Given the description of an element on the screen output the (x, y) to click on. 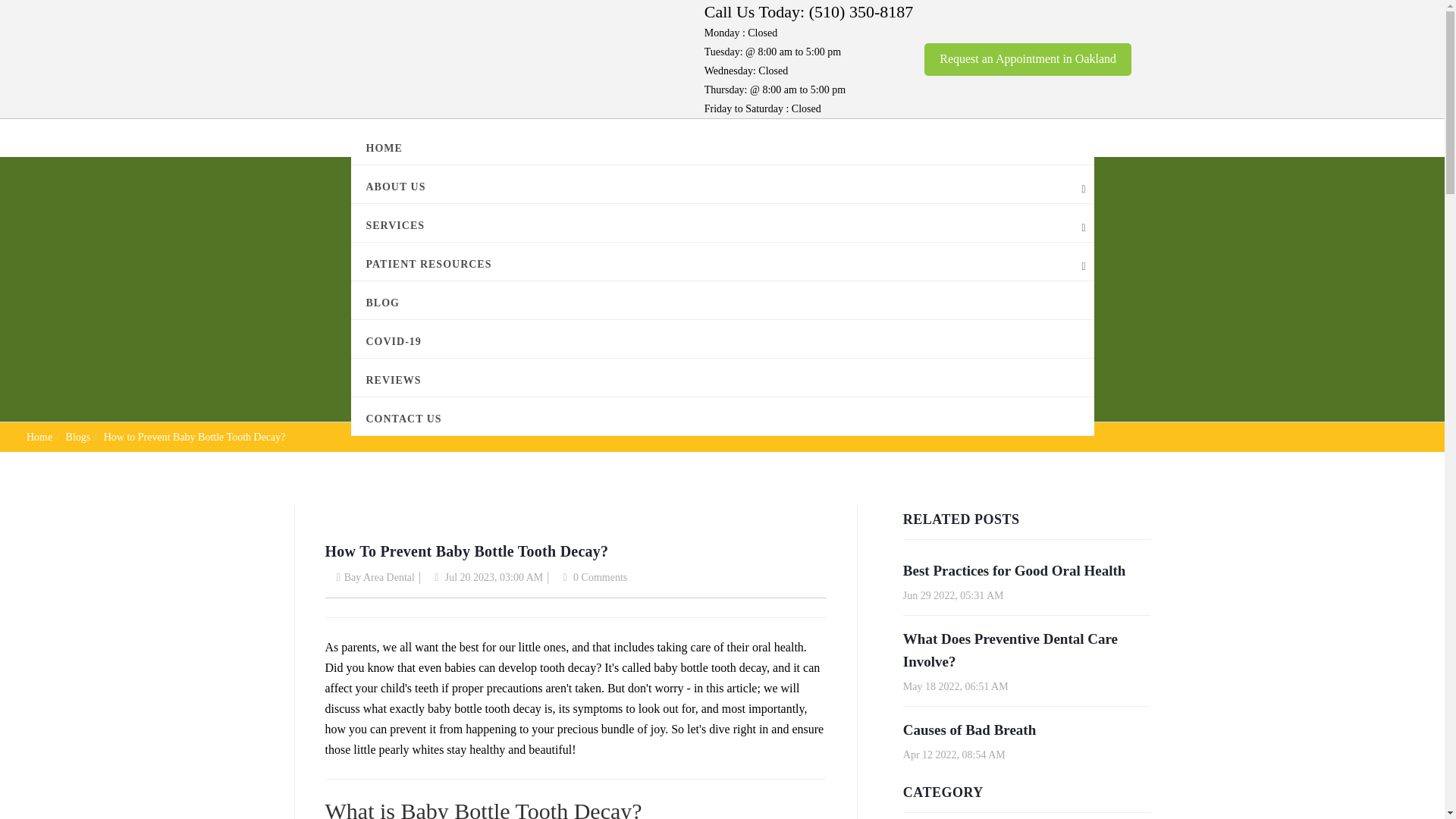
SERVICES (721, 222)
REVIEWS (721, 377)
Request an Appointment in Oakland (1027, 59)
HOME (721, 145)
COVID-19 (721, 338)
CONTACT US (721, 415)
ABOUT US (721, 184)
PATIENT RESOURCES (721, 261)
BLOG (721, 300)
